Given the description of an element on the screen output the (x, y) to click on. 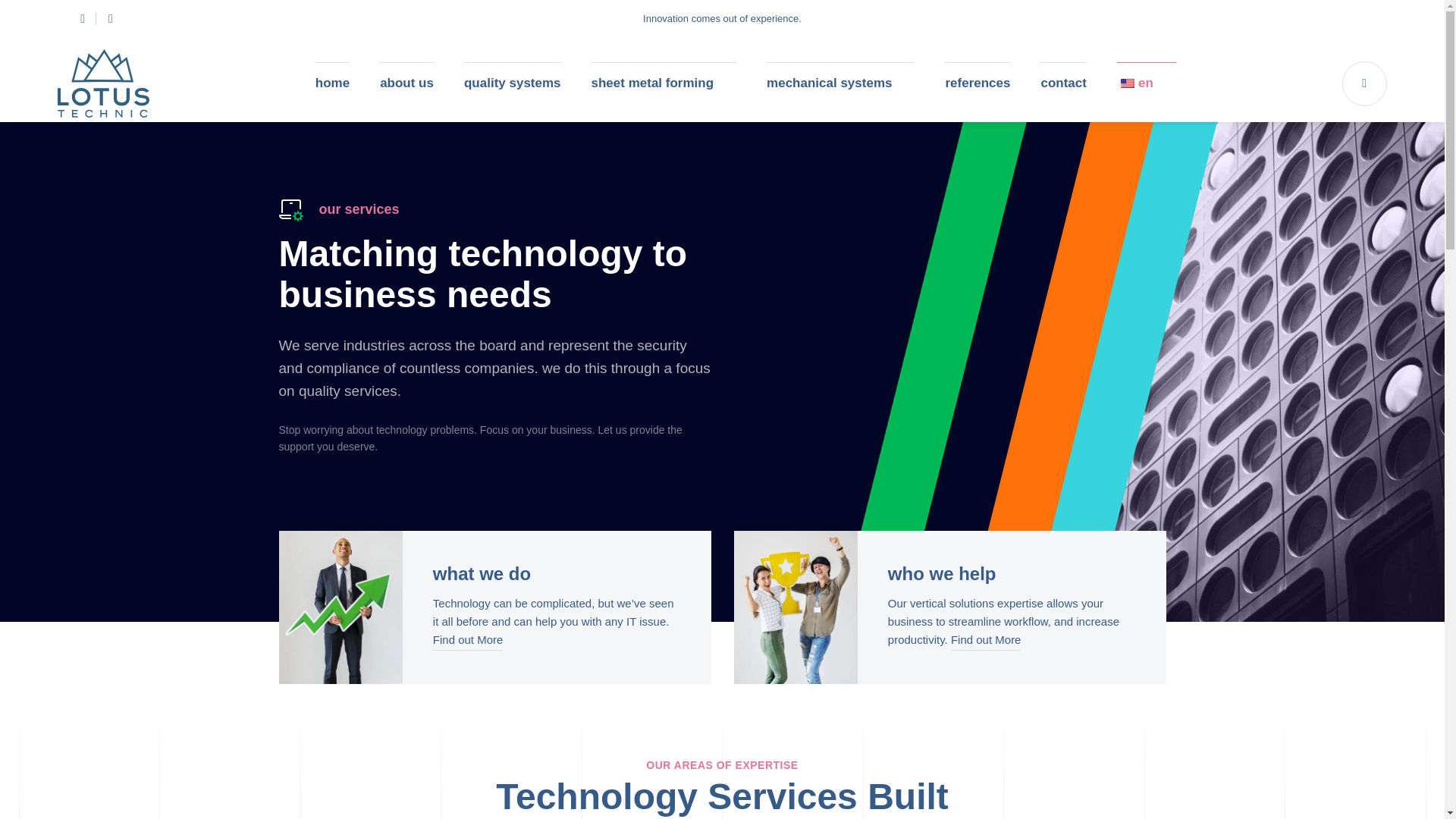
quality systems (512, 83)
about us (406, 83)
contact (1063, 83)
sheet metal forming (663, 83)
Search (1364, 83)
en (1146, 83)
English (1127, 82)
references (977, 83)
mechanical systems (840, 83)
home (332, 83)
